Given the description of an element on the screen output the (x, y) to click on. 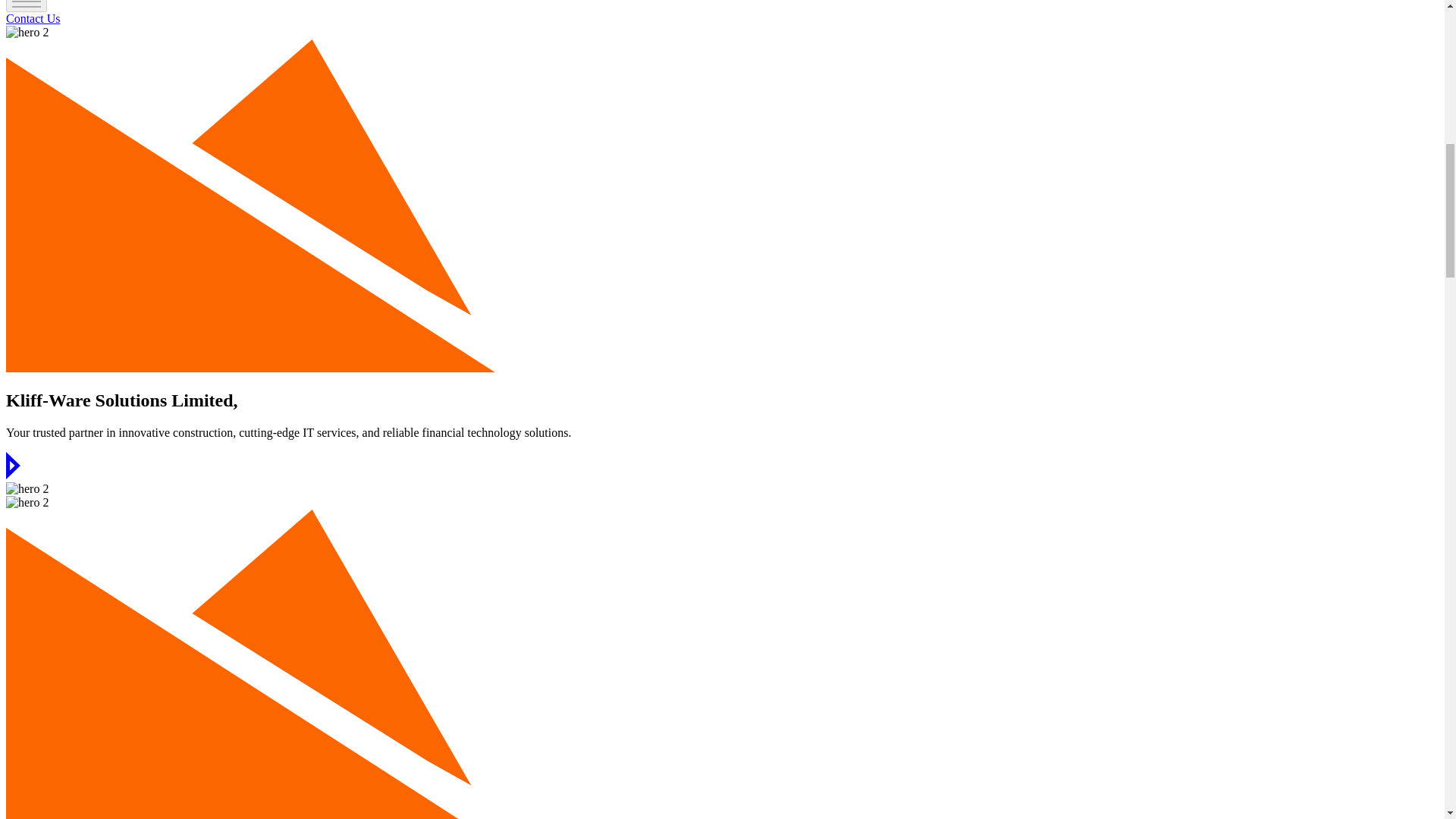
Contact Us (33, 18)
